Given the description of an element on the screen output the (x, y) to click on. 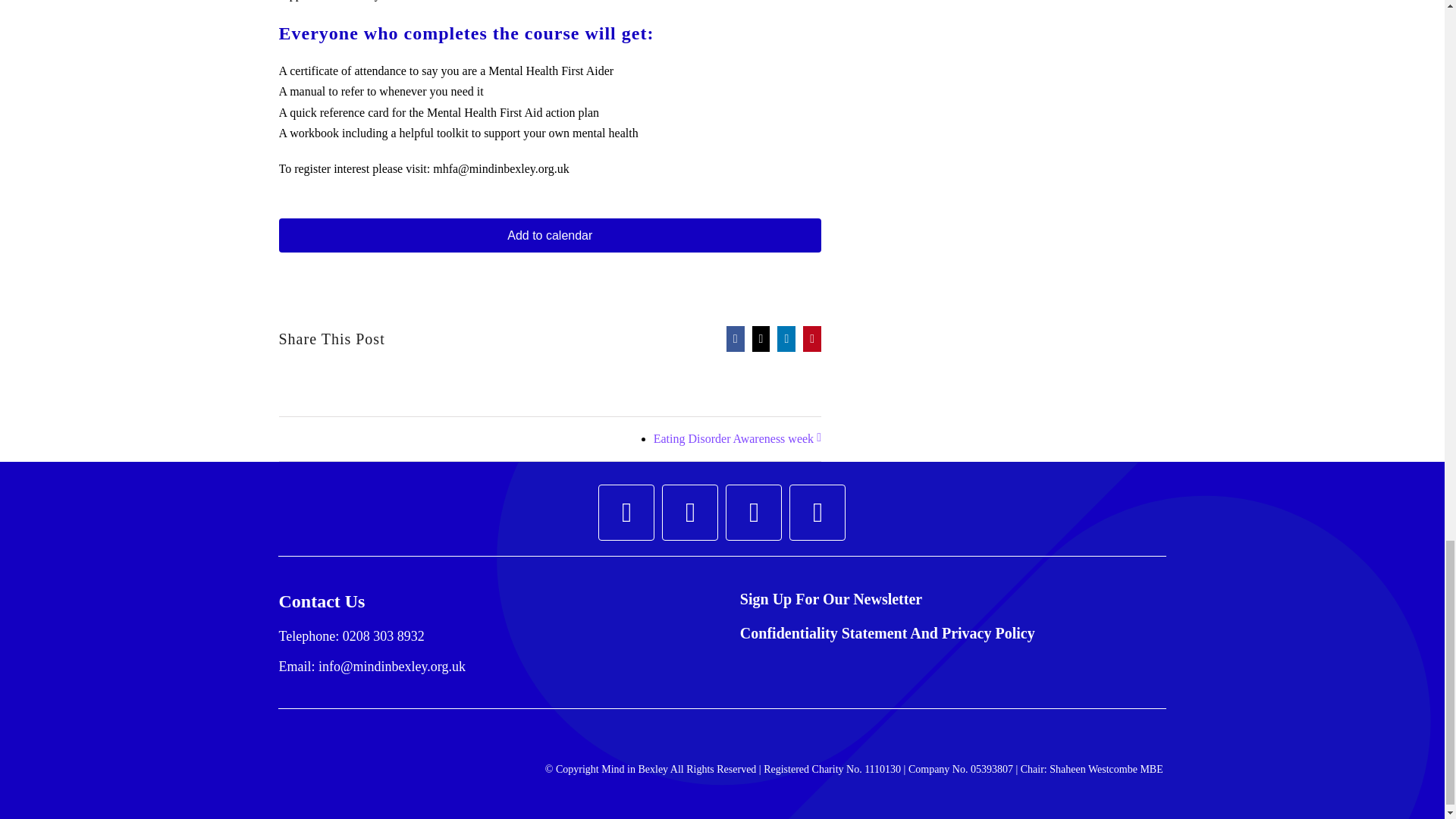
Instagram (689, 512)
Vimeo (817, 512)
X (753, 512)
Facebook (625, 512)
